Given the description of an element on the screen output the (x, y) to click on. 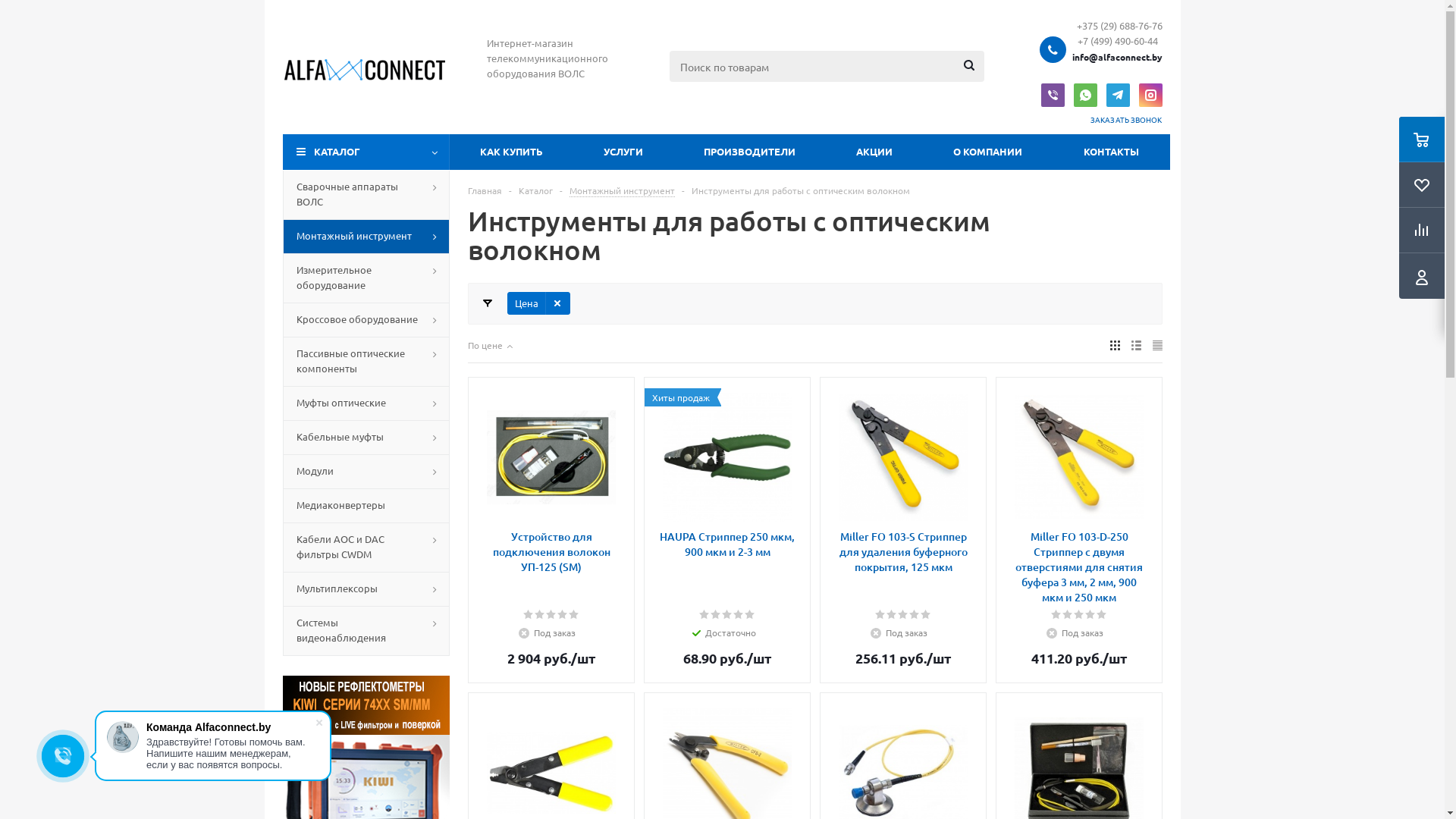
1 Element type: hover (528, 614)
2 Element type: hover (715, 614)
5 Element type: hover (925, 614)
4 Element type: hover (561, 614)
1 Element type: hover (704, 614)
4 Element type: hover (737, 614)
alfaconnect.by Element type: hover (365, 66)
3 Element type: hover (551, 614)
5 Element type: hover (574, 614)
Instagram Element type: hover (1150, 94)
4 Element type: hover (913, 614)
3 Element type: hover (727, 614)
info@alfaconnect.by Element type: text (1117, 55)
2 Element type: hover (539, 614)
5 Element type: hover (750, 614)
VIBER Element type: hover (1051, 94)
2 Element type: hover (1067, 614)
1 Element type: hover (1056, 614)
2 Element type: hover (891, 614)
4 Element type: hover (1089, 614)
3 Element type: hover (1079, 614)
TELEGRAM Element type: hover (1117, 94)
3 Element type: hover (903, 614)
5 Element type: hover (1101, 614)
WHATSAPP Element type: hover (1085, 94)
1 Element type: hover (880, 614)
